Given the description of an element on the screen output the (x, y) to click on. 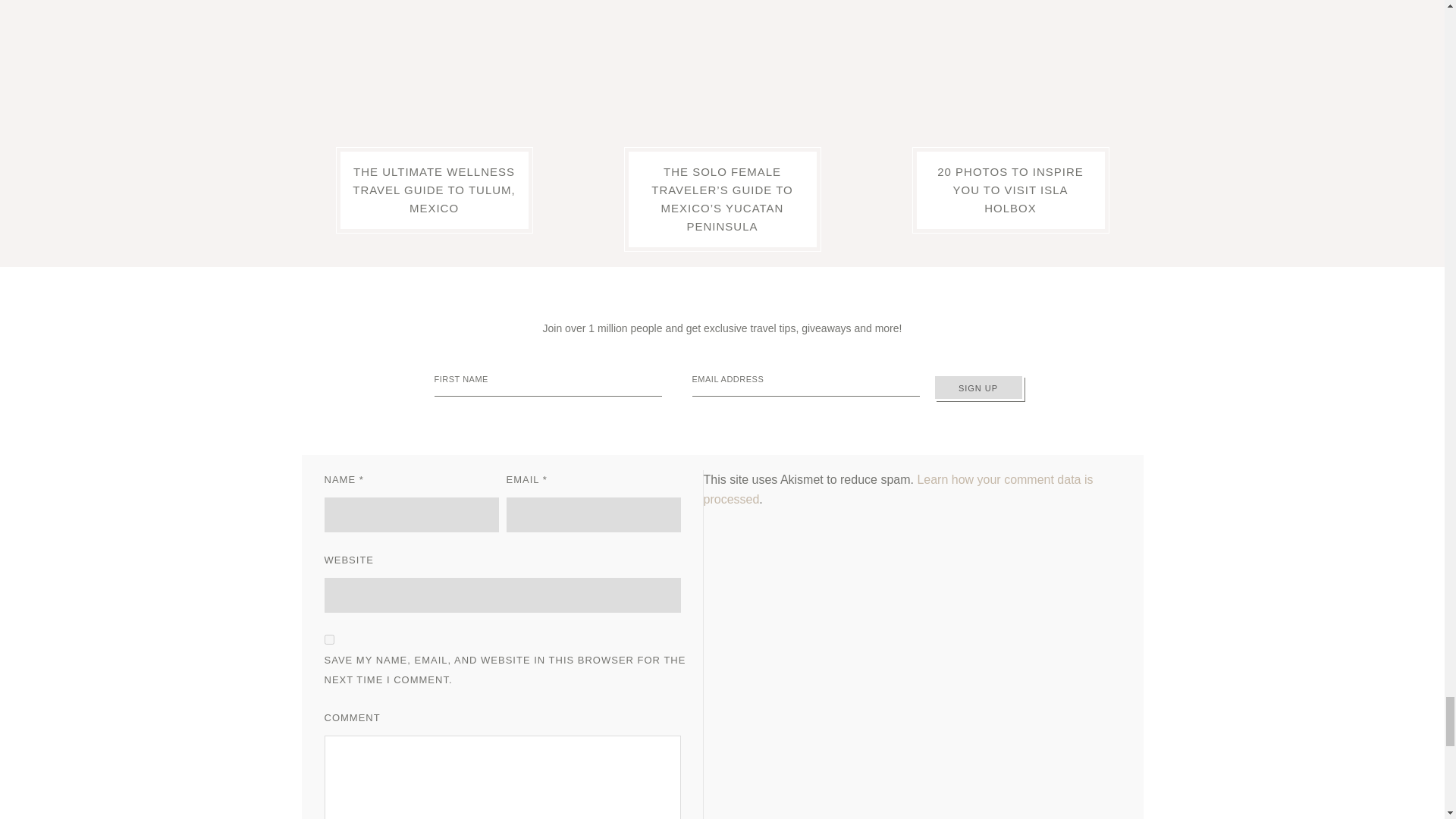
yes (329, 639)
